Given the description of an element on the screen output the (x, y) to click on. 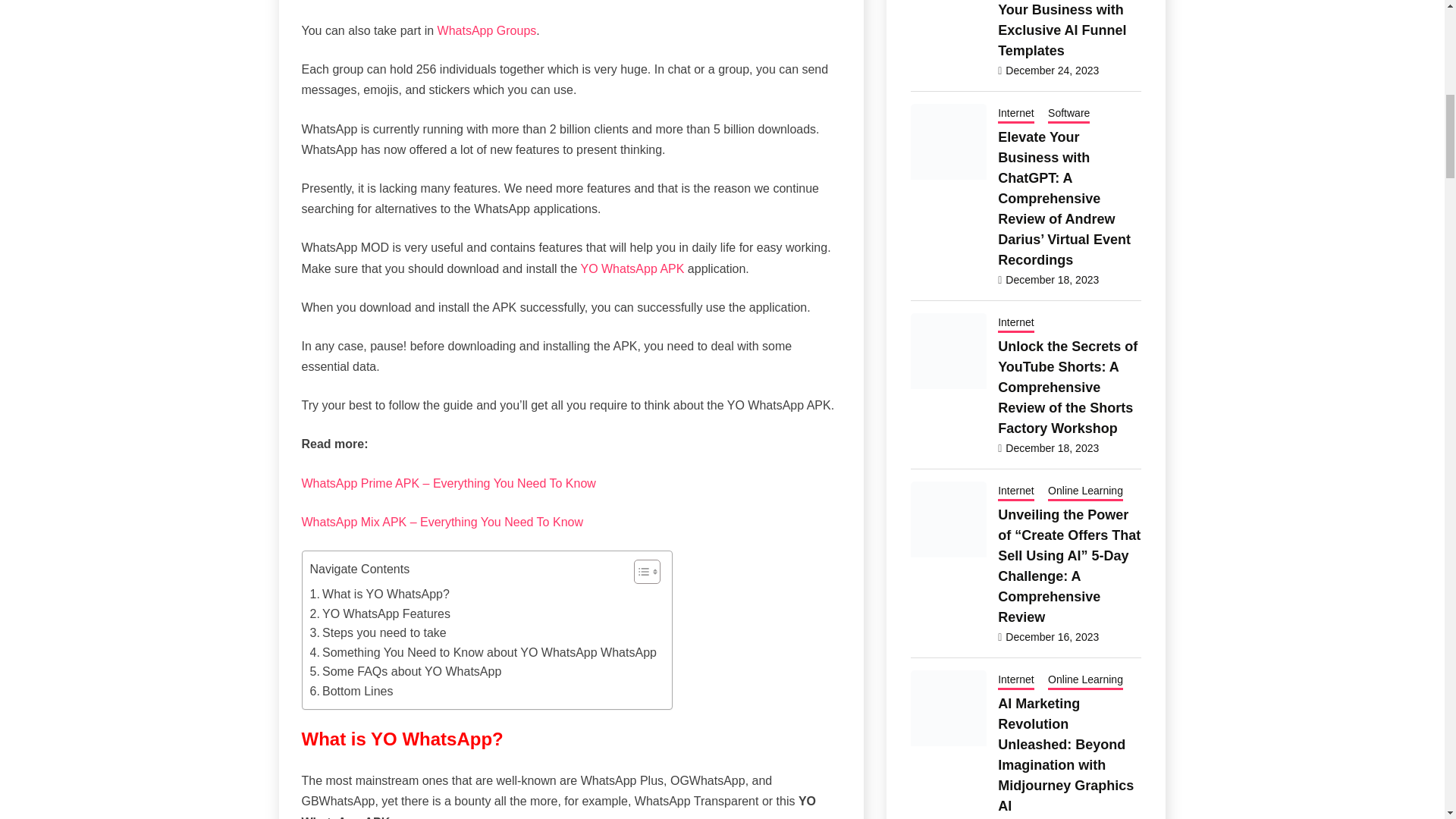
YO WhatsApp APK (630, 268)
Bottom Lines (350, 691)
Some FAQs about YO WhatsApp (404, 671)
YO WhatsApp Features (378, 614)
Some FAQs about YO WhatsApp (404, 671)
YO WhatsApp Features (378, 614)
Bottom Lines (350, 691)
Steps you need to take (376, 632)
What is YO WhatsApp? (378, 594)
Steps you need to take (376, 632)
